Given the description of an element on the screen output the (x, y) to click on. 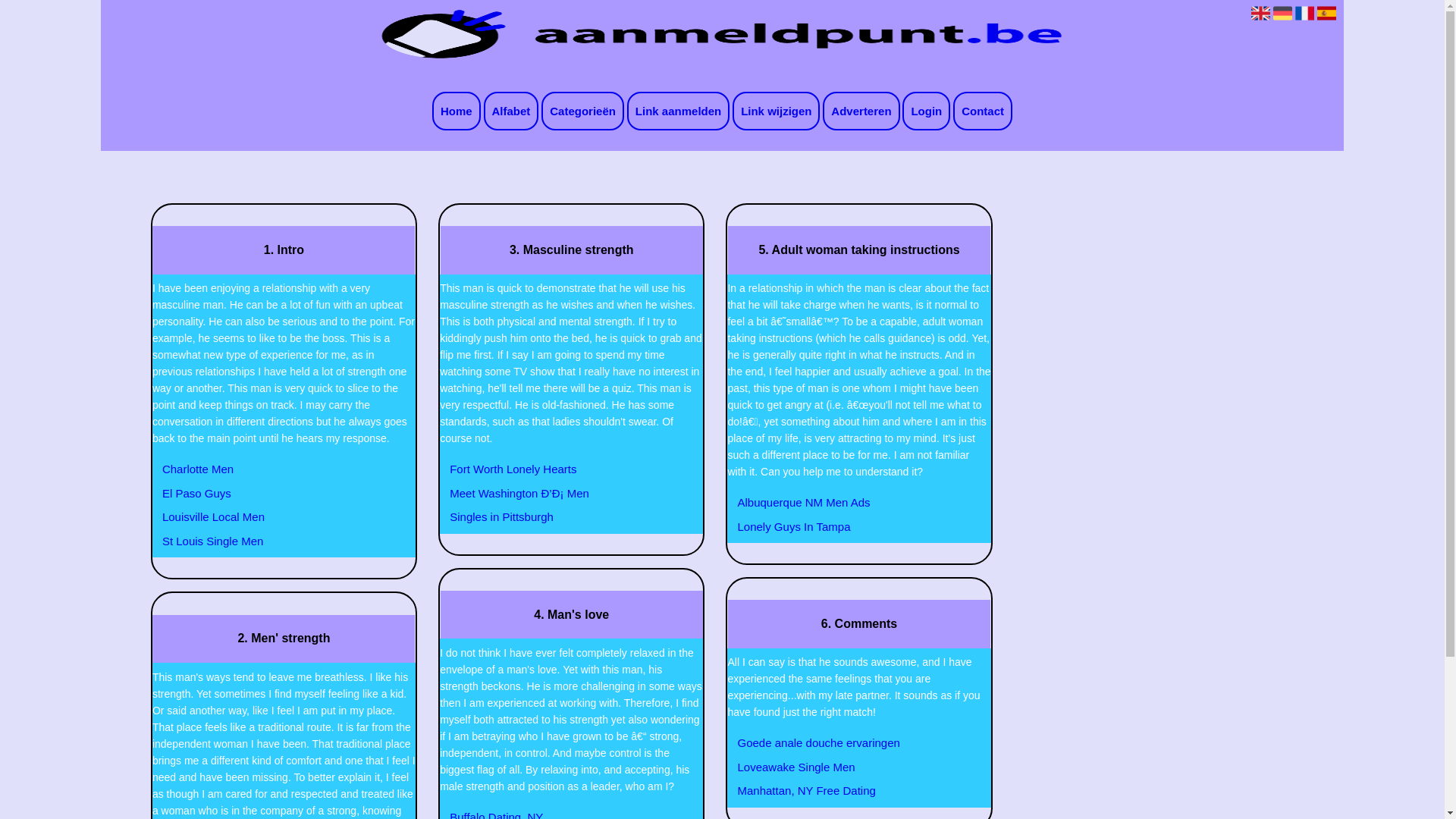
Lonely Guys In Tampa Element type: text (849, 526)
Link aanmelden Element type: text (678, 110)
El Paso Guys Element type: text (274, 493)
Goede anale douche ervaringen Element type: text (849, 743)
St Louis Single Men Element type: text (274, 541)
Adverteren Element type: text (860, 110)
Albuquerque NM Men Ads Element type: text (849, 502)
Manhattan, NY Free Dating Element type: text (849, 790)
Singles in Pittsburgh Element type: text (562, 517)
Login Element type: text (926, 110)
Alfabet Element type: text (511, 110)
Charlotte Men Element type: text (274, 469)
Louisville Local Men Element type: text (274, 517)
Fort Worth Lonely Hearts Element type: text (562, 469)
Home Element type: text (456, 110)
Loveawake Single Men Element type: text (849, 767)
Link wijzigen Element type: text (775, 110)
Contact Element type: text (982, 110)
